Given the description of an element on the screen output the (x, y) to click on. 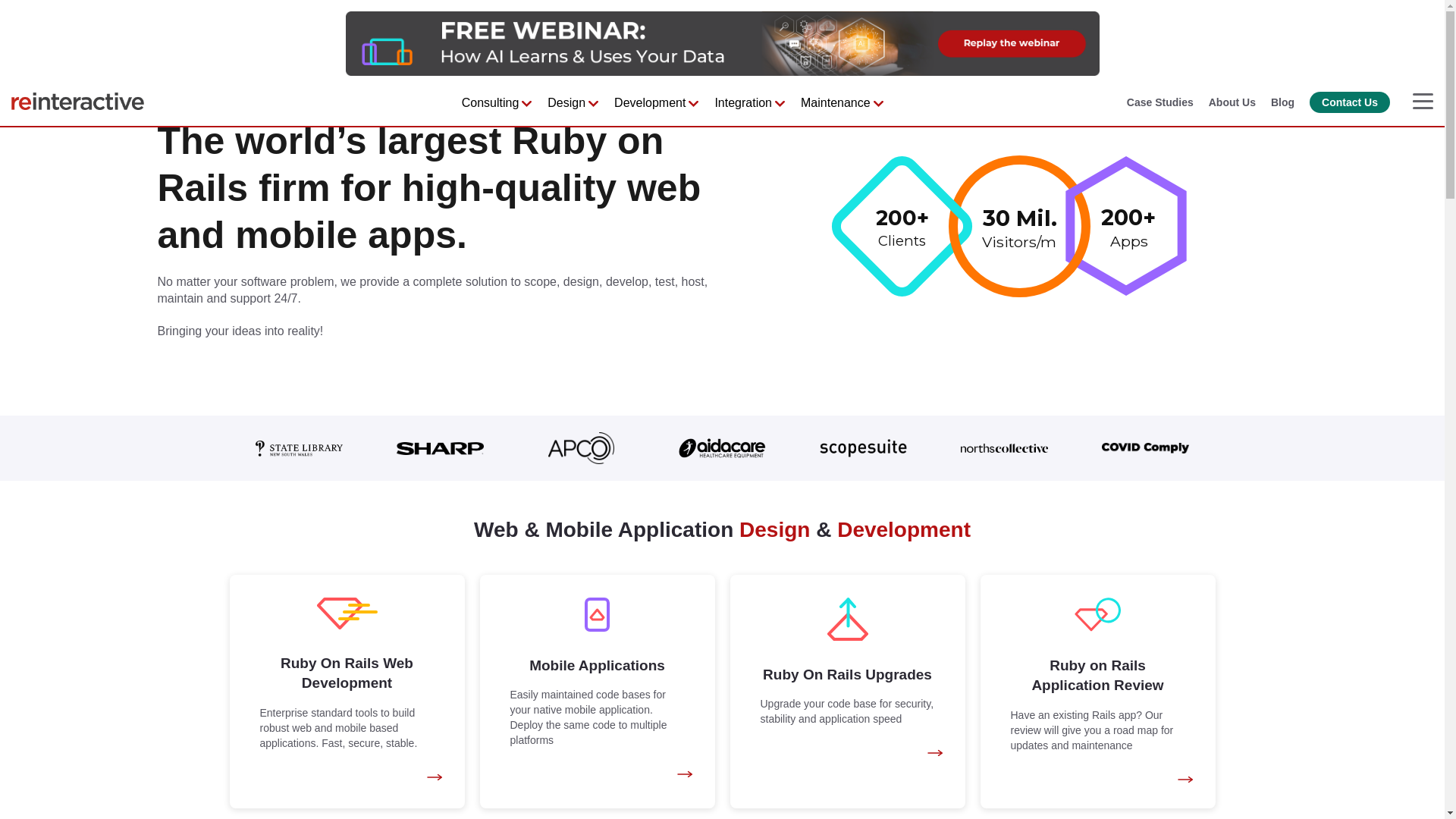
Maintenance (835, 102)
Integration (743, 102)
Consulting (490, 102)
Development (649, 102)
Design (565, 102)
